Given the description of an element on the screen output the (x, y) to click on. 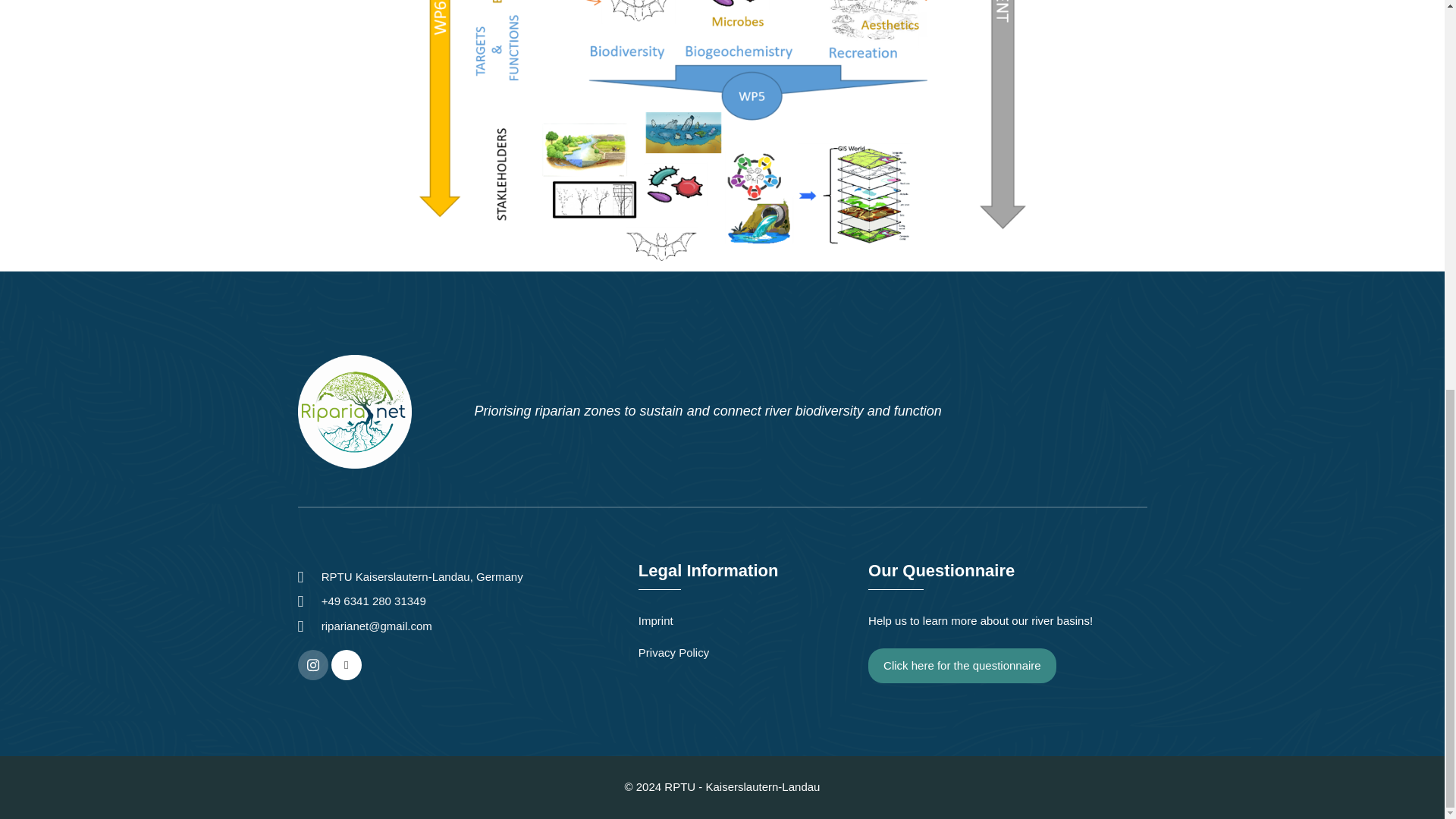
Privacy Policy (746, 652)
Click here for the questionnaire (962, 665)
Imprint (746, 620)
